Given the description of an element on the screen output the (x, y) to click on. 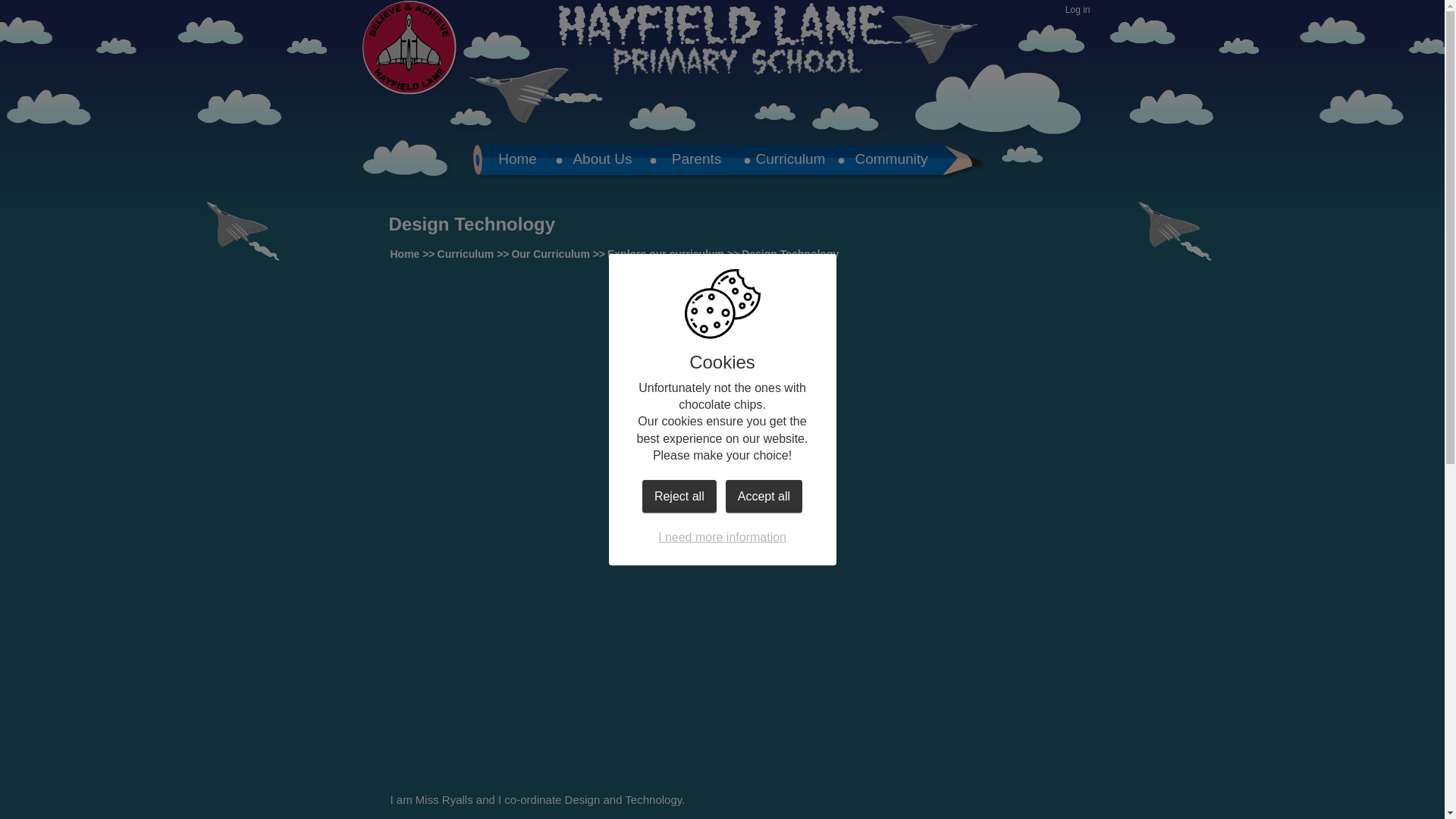
Home (516, 160)
Home (404, 254)
Log in (1077, 10)
Design Technology (789, 254)
Explore our curriculum (665, 254)
Curriculum (466, 254)
About Us (601, 160)
Home Page (409, 47)
Our Curriculum (550, 254)
Home Page (409, 47)
Parents (695, 160)
